Given the description of an element on the screen output the (x, y) to click on. 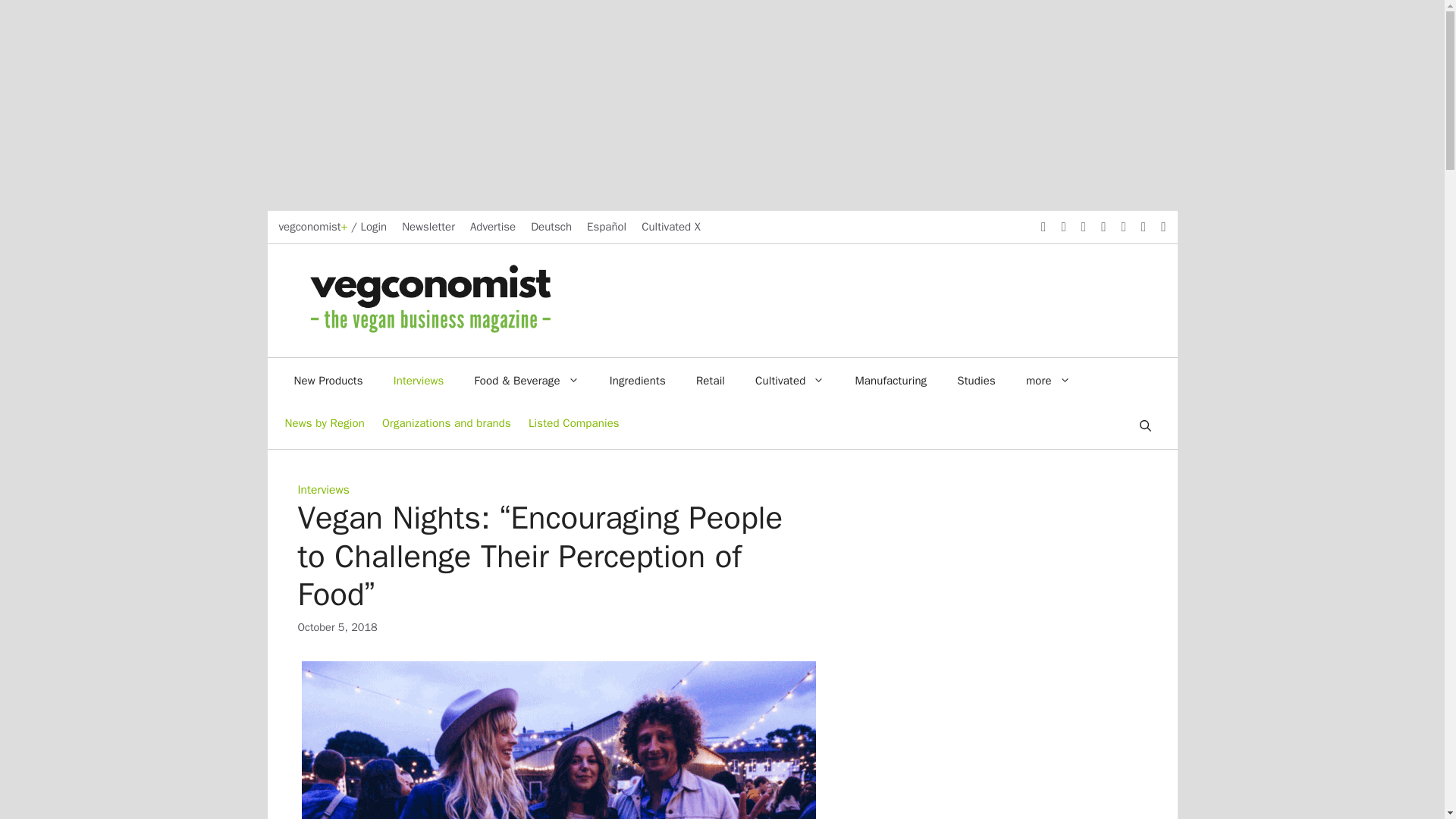
New Products (328, 380)
Advertise (492, 226)
Studies (976, 380)
Cultivated (789, 380)
Newsletter (427, 226)
Cultivated X (671, 226)
Deutsch (551, 226)
more (1048, 380)
Manufacturing (891, 380)
Interviews (419, 380)
